Given the description of an element on the screen output the (x, y) to click on. 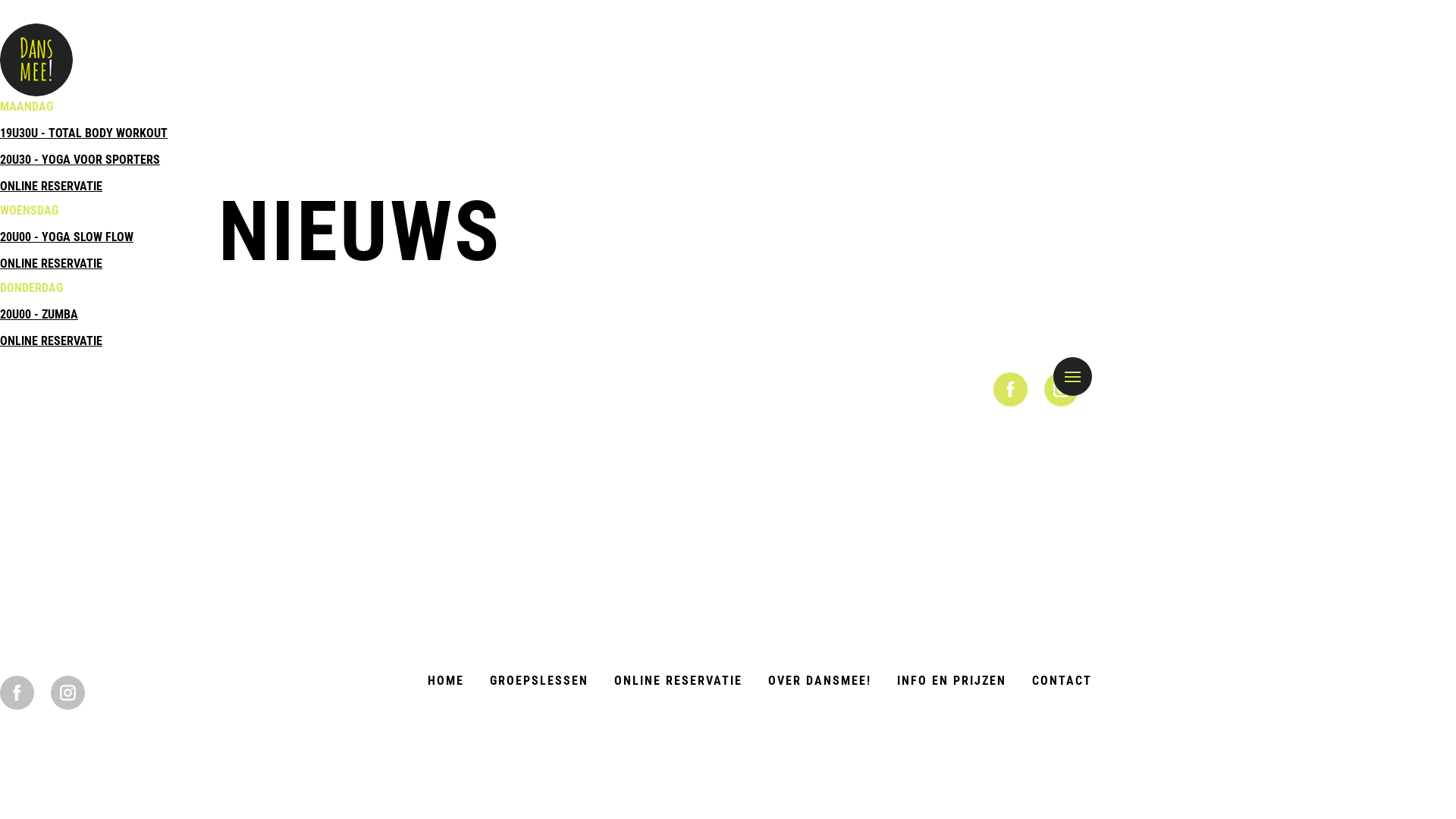
20U00 - YOGA SLOW FLOW Element type: text (66, 236)
GROEPSLESSEN Element type: text (538, 680)
20U30 - YOGA VOOR SPORTERS Element type: text (80, 159)
ONLINE RESERVATIE Element type: text (678, 680)
CONTACT Element type: text (1062, 680)
INFO EN PRIJZEN Element type: text (951, 680)
ONLINE RESERVATIE Element type: text (51, 340)
20U00 - ZUMBA Element type: text (39, 314)
19U30U - TOTAL BODY WORKOUT Element type: text (83, 132)
ONLINE RESERVATIE Element type: text (51, 263)
HOME Element type: text (445, 680)
OVER DANSMEE! Element type: text (819, 680)
ONLINE RESERVATIE Element type: text (51, 185)
